Given the description of an element on the screen output the (x, y) to click on. 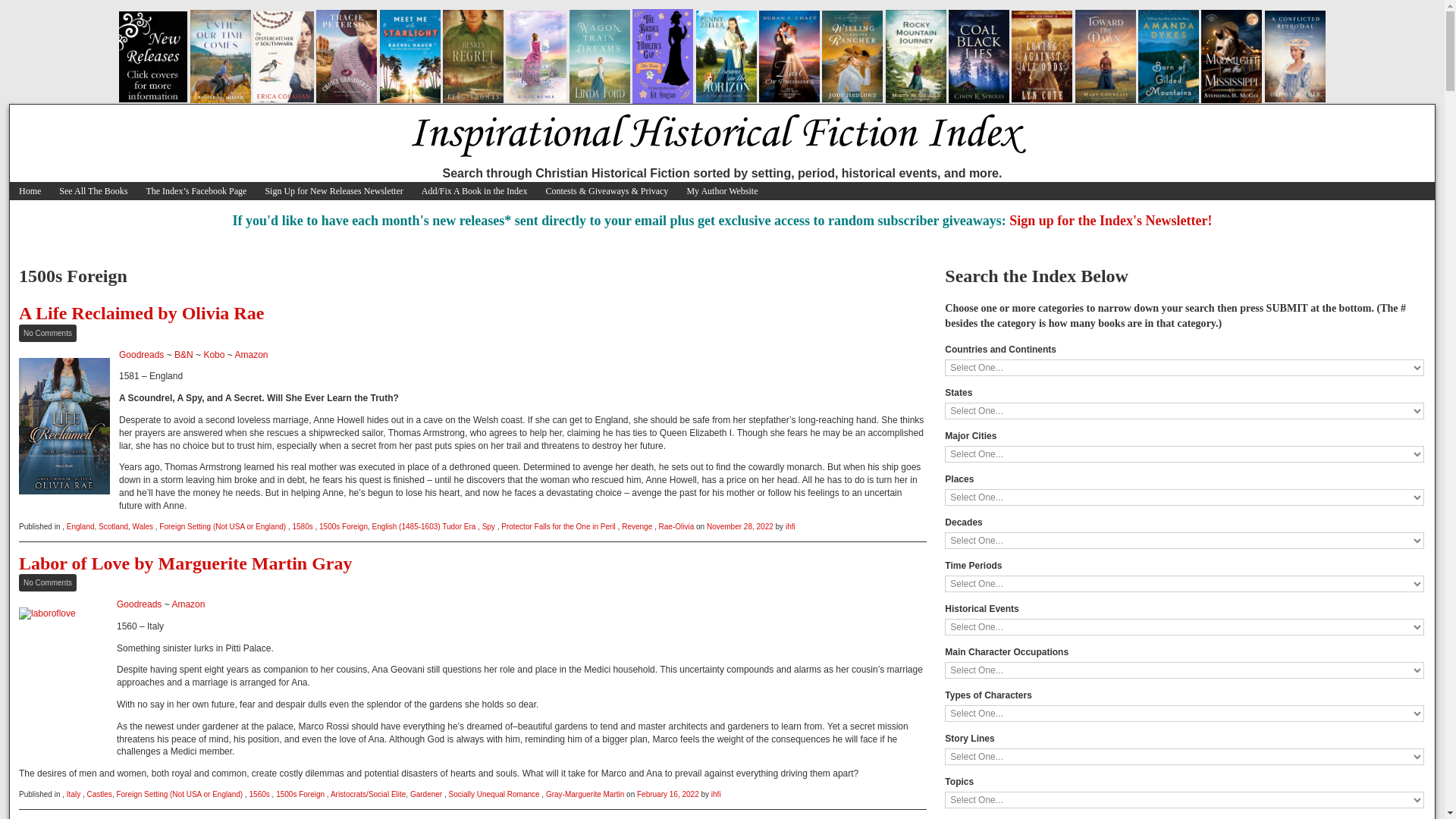
Goodreads (141, 354)
See All The Books (47, 333)
1580s (92, 190)
Kobo (302, 526)
2:24 pm (212, 354)
Sign Up for New Releases Newsletter (667, 794)
A Life Reclaimed by Olivia Rae (334, 190)
Permalink to Labor of Love by Marguerite Martin Gray (140, 312)
Permalink to A Life Reclaimed by Olivia Rae (185, 563)
Amazon (140, 312)
Sign up for the Index's Newsletter! (250, 354)
Home (1110, 220)
4:58 pm (29, 190)
Scotland (739, 526)
